Given the description of an element on the screen output the (x, y) to click on. 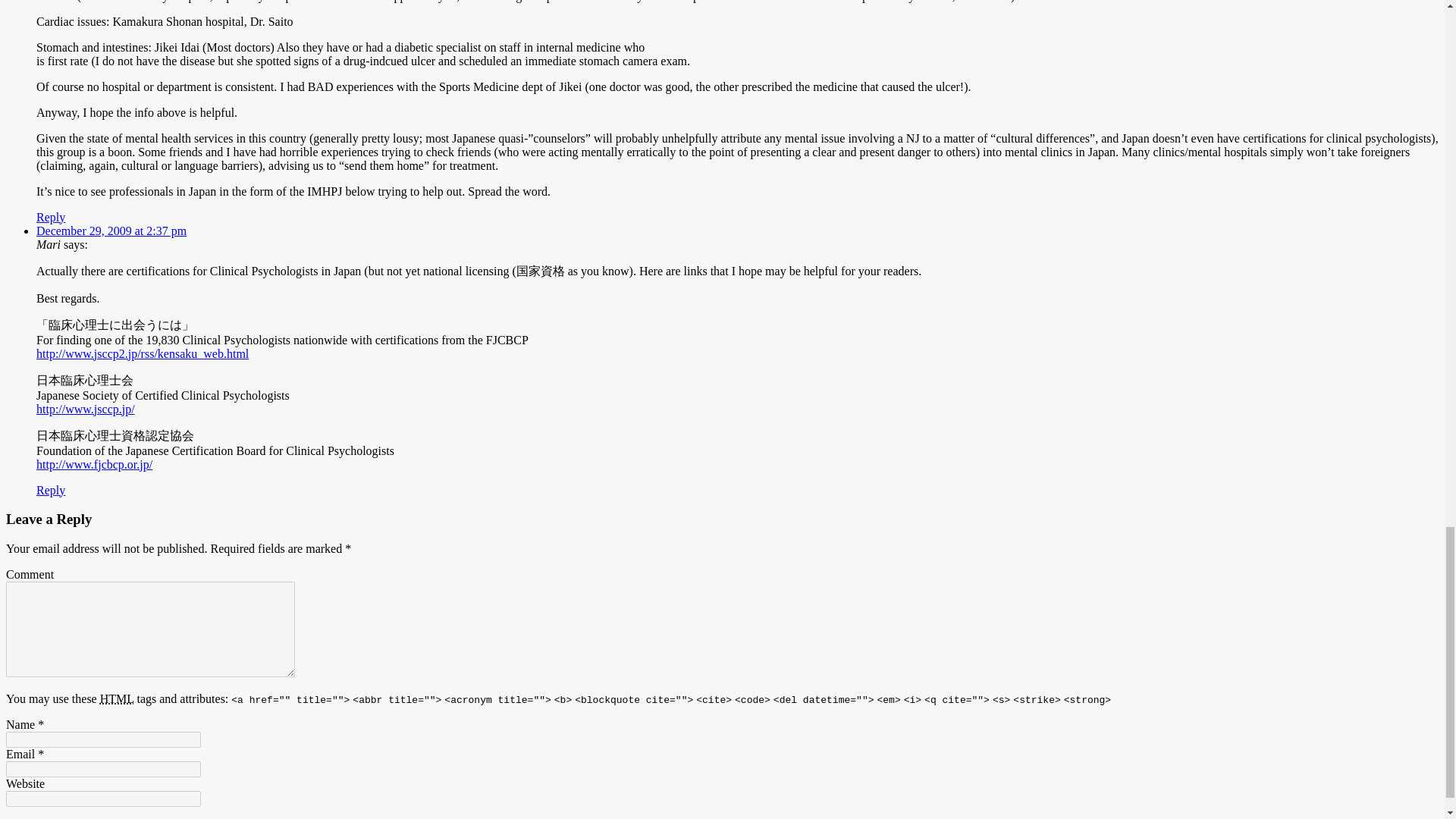
December 29, 2009 at 2:37 pm (111, 229)
Reply (50, 215)
Reply (50, 489)
HyperText Markup Language (116, 698)
